Given the description of an element on the screen output the (x, y) to click on. 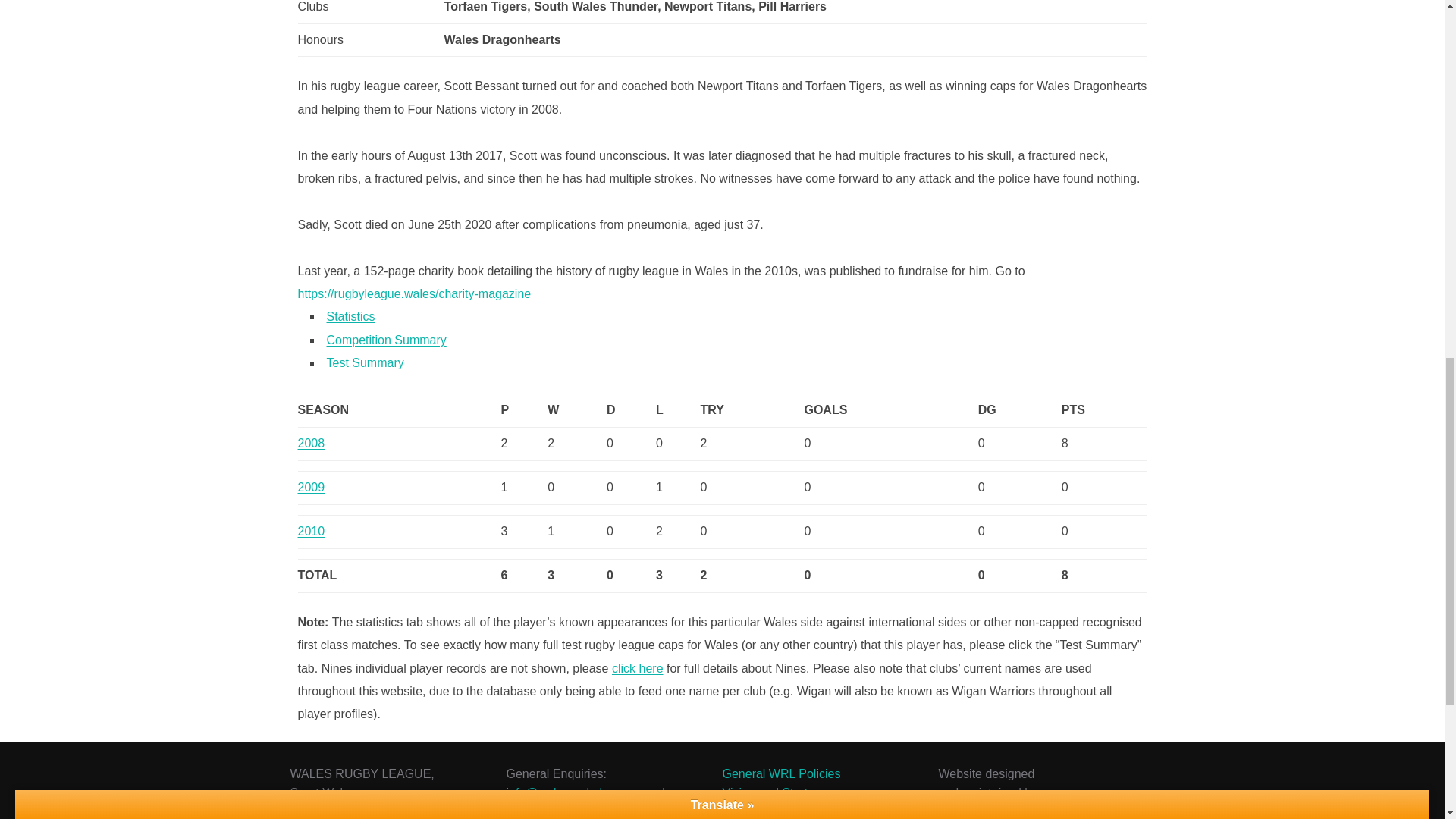
Tries (752, 410)
Lost (678, 410)
Matches (523, 410)
Drop Goals (1019, 410)
Points (1104, 410)
Won (577, 410)
Drawn (631, 410)
Goals (889, 410)
